Given the description of an element on the screen output the (x, y) to click on. 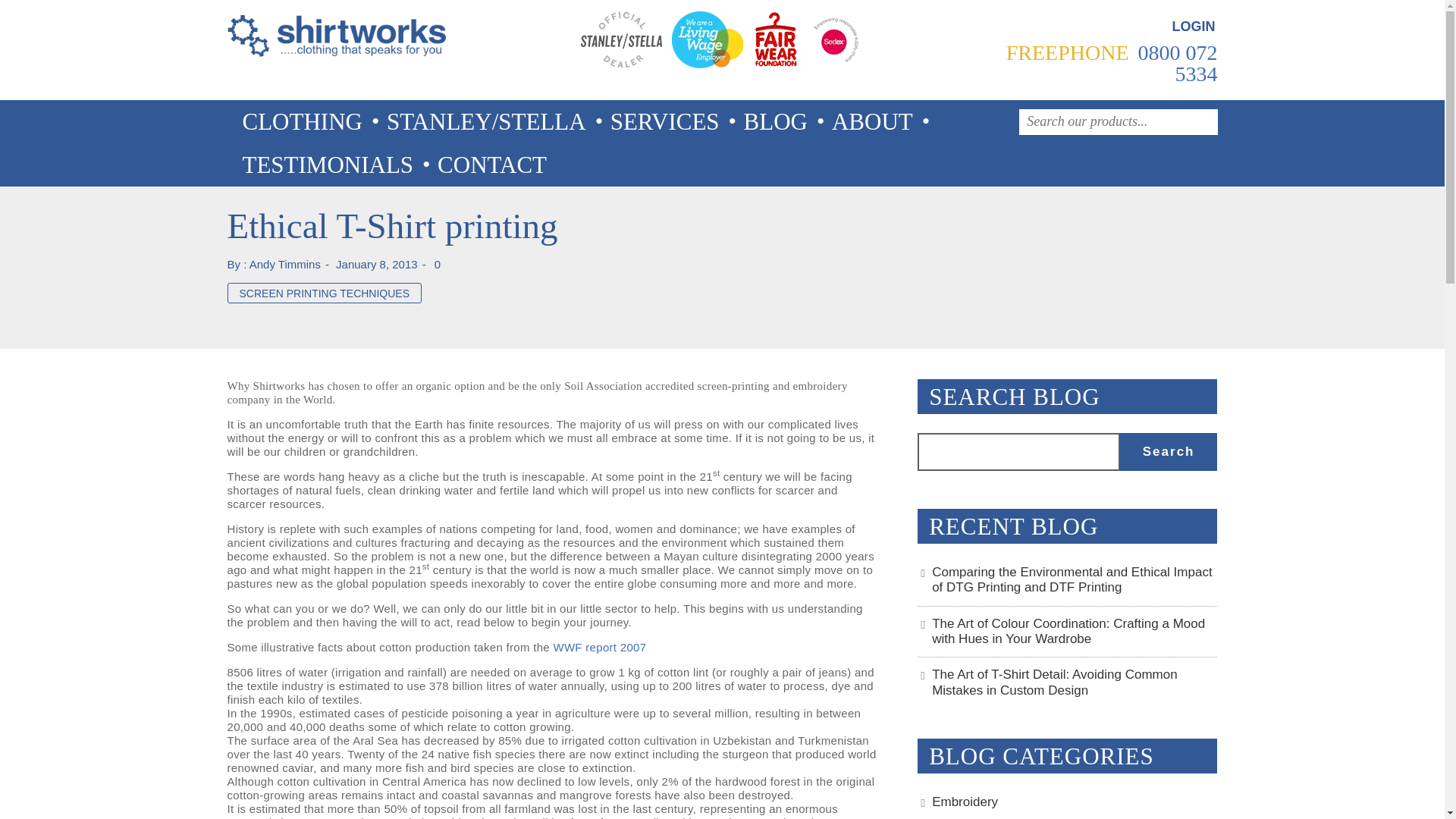
SERVICES (662, 121)
LOGIN (1192, 28)
CLOTHING (299, 121)
Cotton for printing (599, 646)
0800 072 5334 (1175, 62)
0800 072 5334 (1175, 62)
Search (1168, 451)
